Given the description of an element on the screen output the (x, y) to click on. 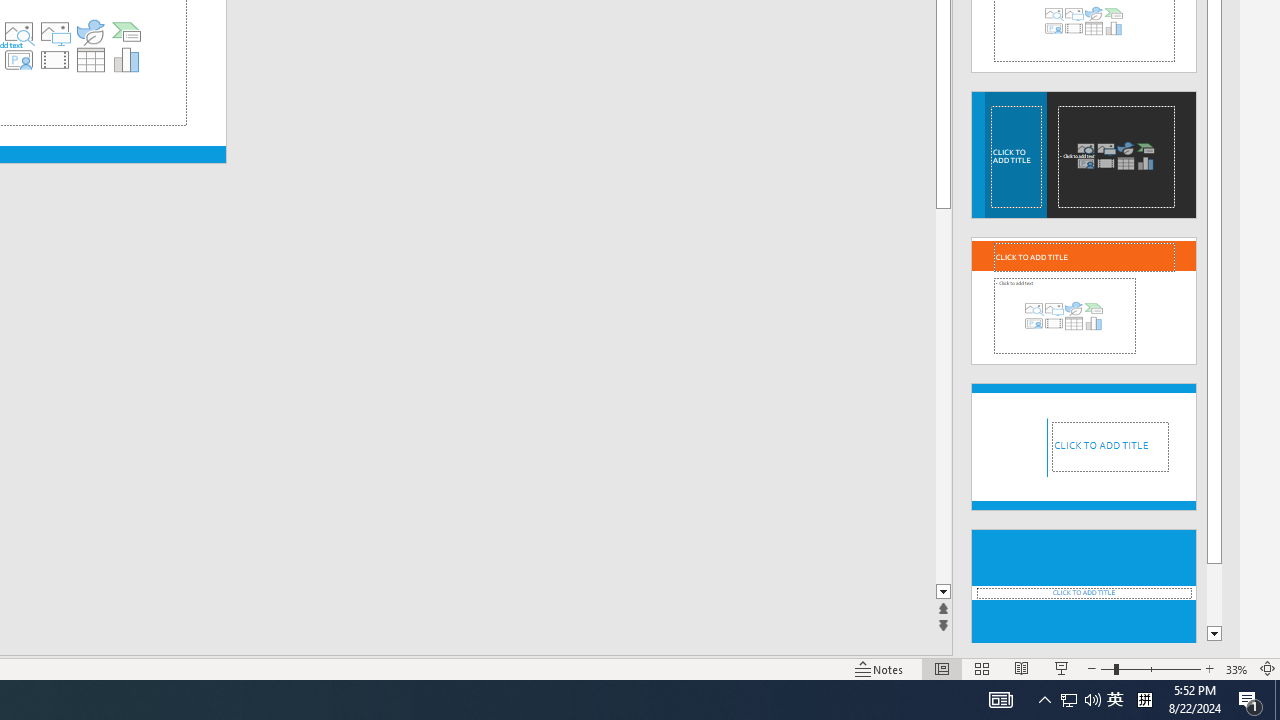
Design Idea (1083, 587)
Insert Table (91, 60)
Zoom 33% (1236, 668)
Insert Video (54, 60)
Insert Cameo (18, 60)
Insert a SmartArt Graphic (127, 32)
